Given the description of an element on the screen output the (x, y) to click on. 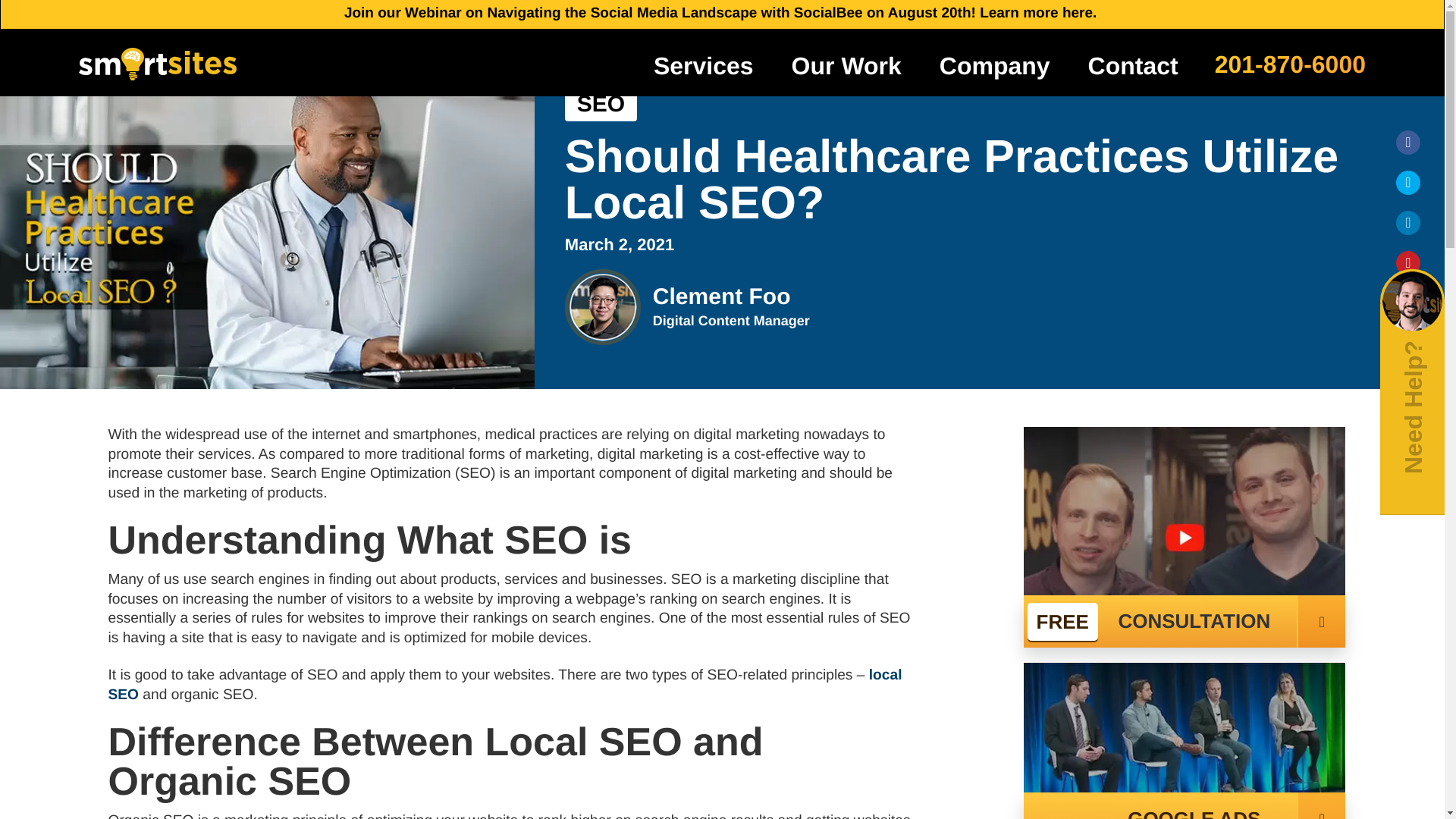
GOOGLE ADS AUDIT (1184, 805)
201-870-6000 (1289, 62)
CONSULTATION (1184, 621)
local SEO (504, 684)
Contact (1133, 65)
Services (703, 65)
Company (995, 65)
Our Work (846, 65)
SEO (600, 104)
